Given the description of an element on the screen output the (x, y) to click on. 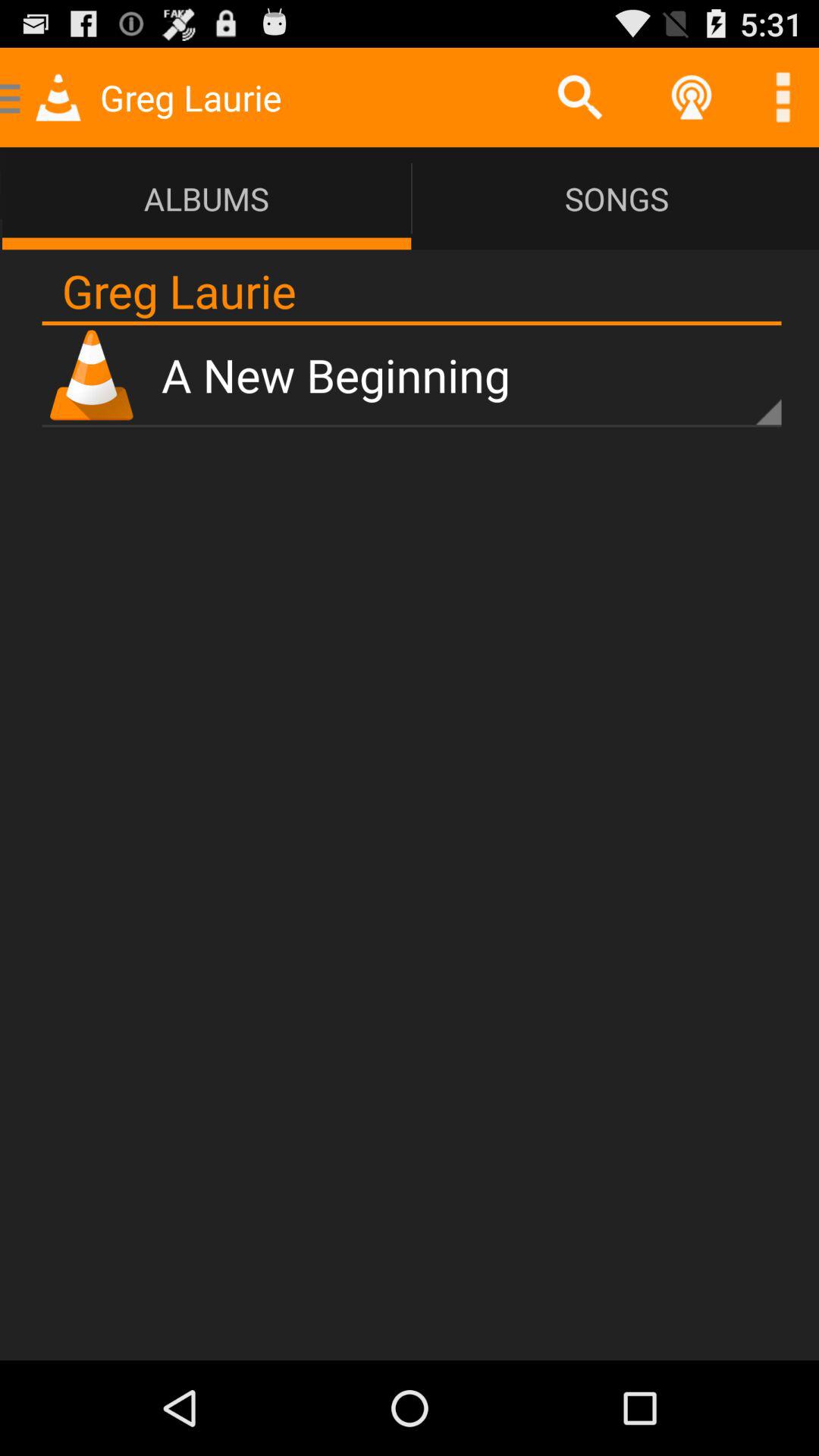
more options (783, 97)
